Given the description of an element on the screen output the (x, y) to click on. 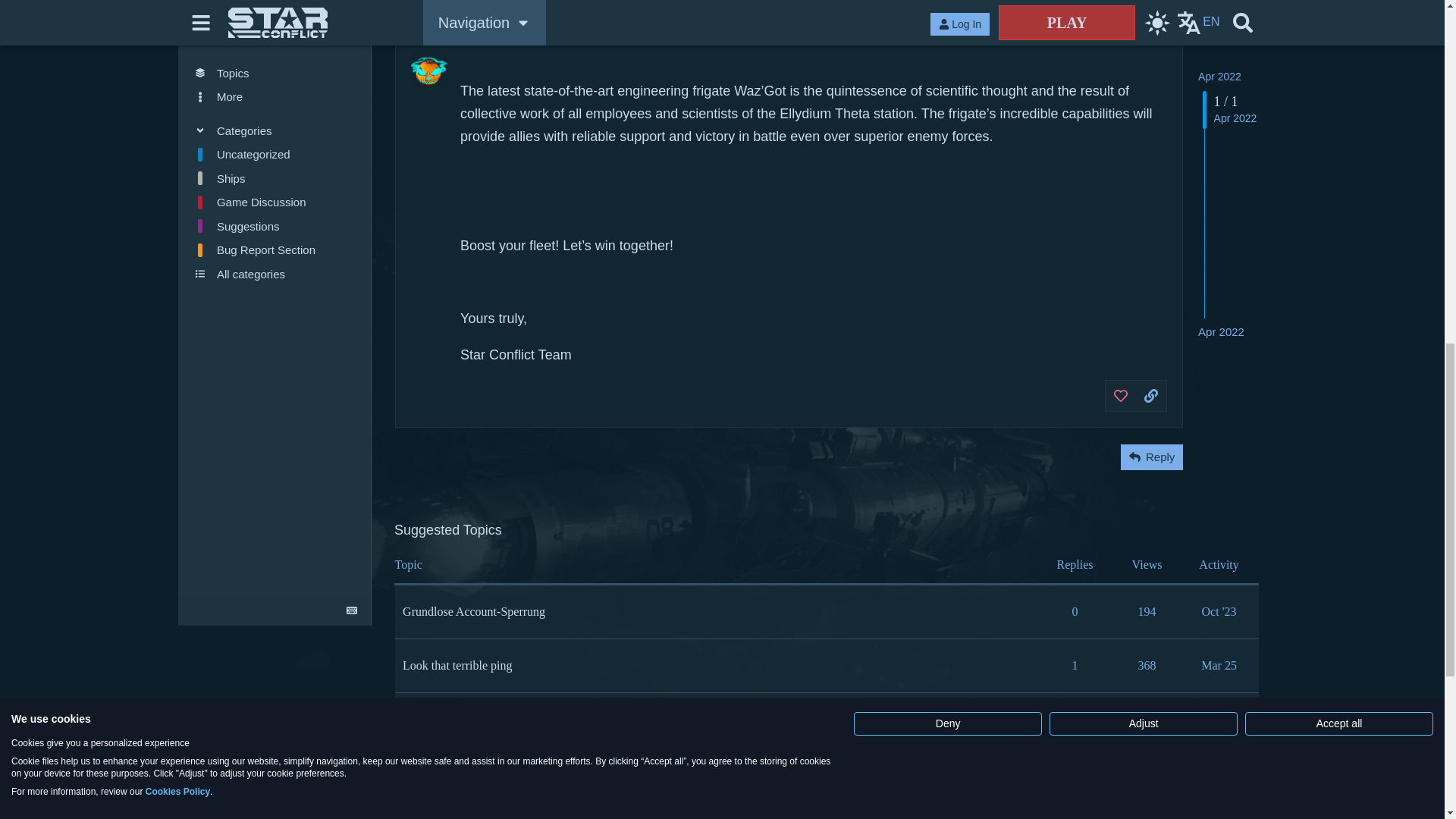
Look that terrible ping (457, 665)
Mar 25 (1218, 719)
Suggestions (433, 727)
Oct '23 (1219, 611)
In search of the lost shuttle (468, 711)
Mar 25 (1218, 665)
like this post (1120, 396)
Reply (1151, 457)
Grundlose Account-Sperrung (473, 611)
